Given the description of an element on the screen output the (x, y) to click on. 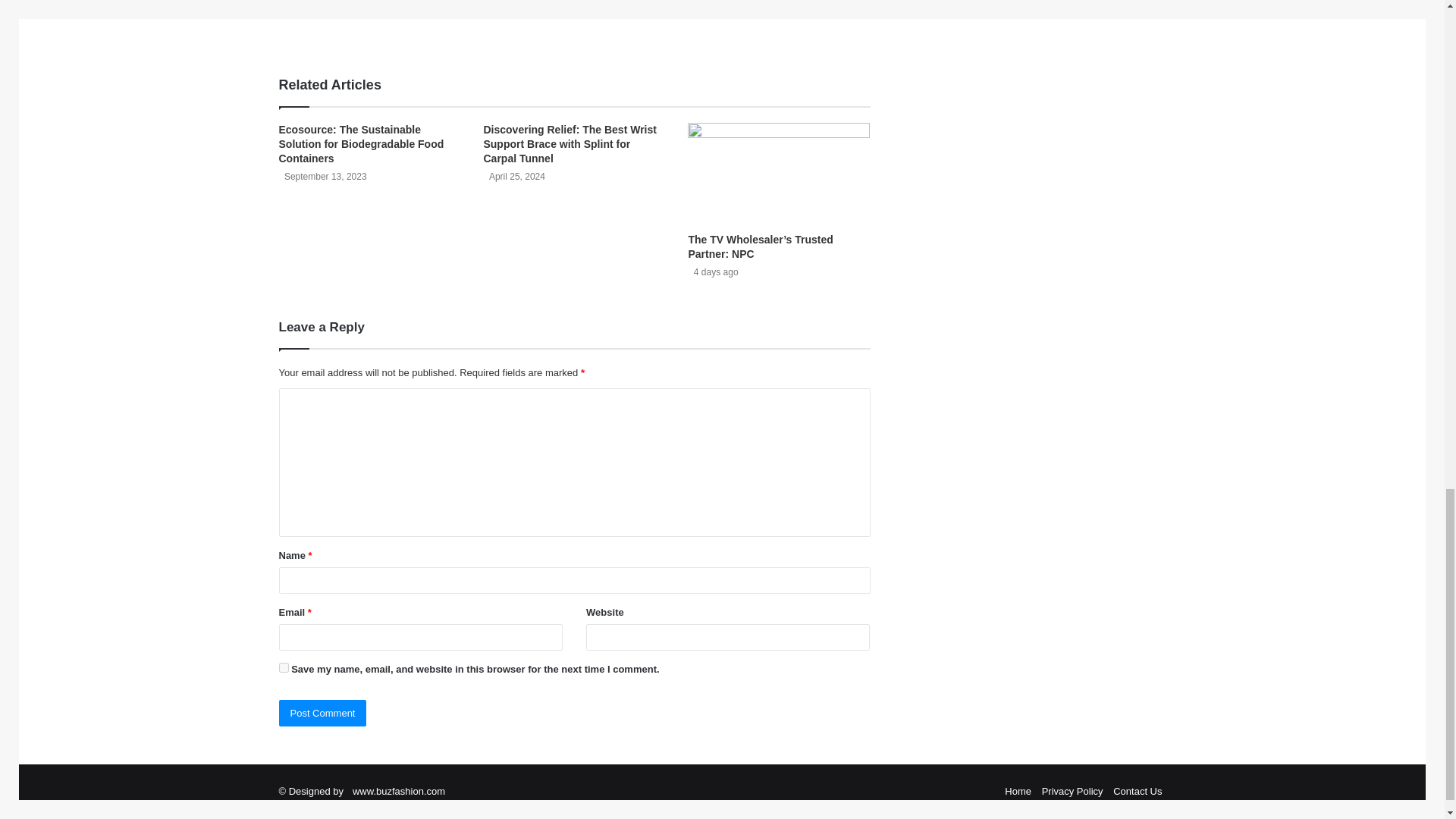
Website (381, 28)
yes (283, 667)
admin (392, 4)
Post Comment (322, 713)
